Given the description of an element on the screen output the (x, y) to click on. 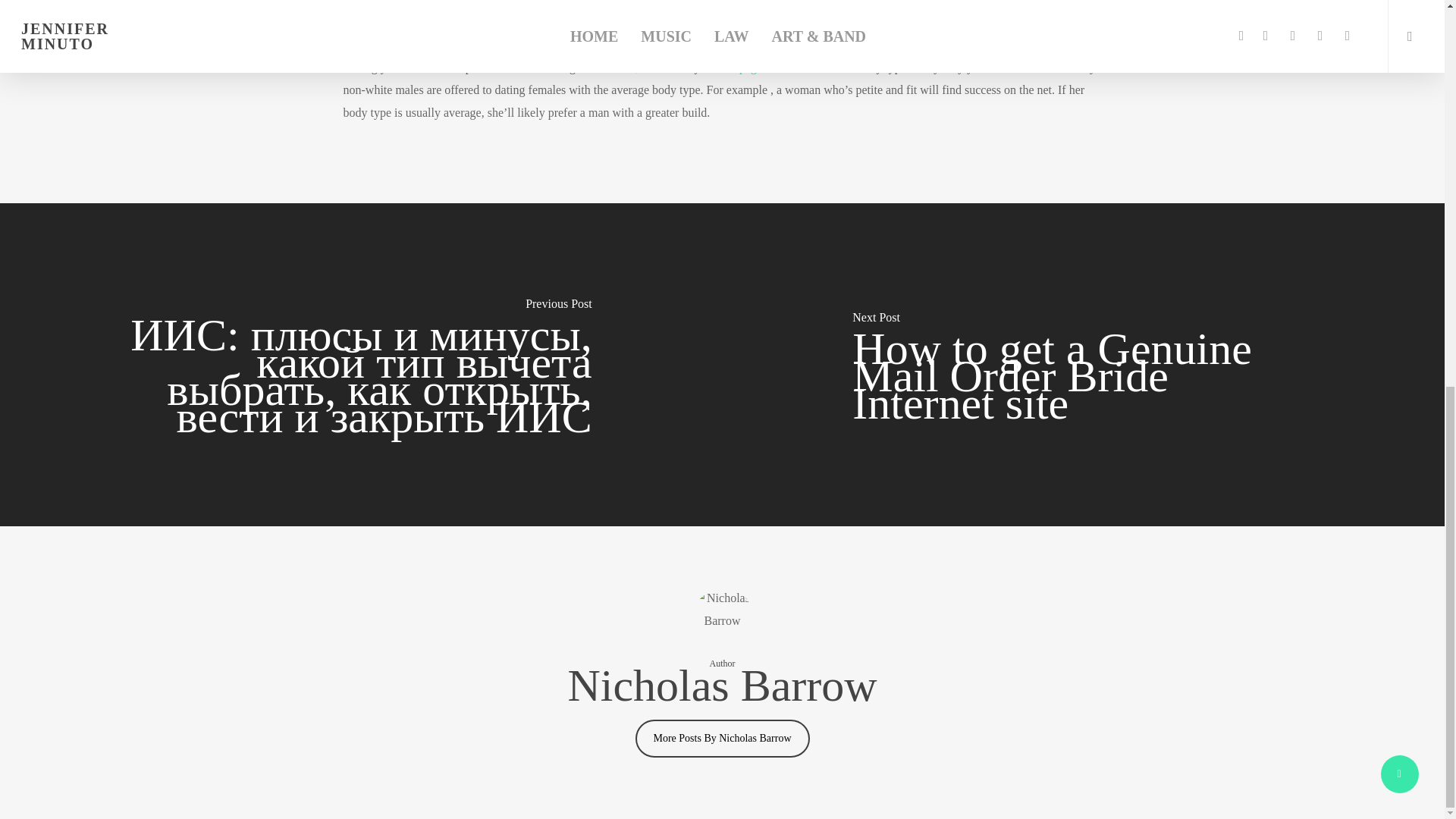
next page (737, 66)
More Posts By Nicholas Barrow (721, 738)
